Given the description of an element on the screen output the (x, y) to click on. 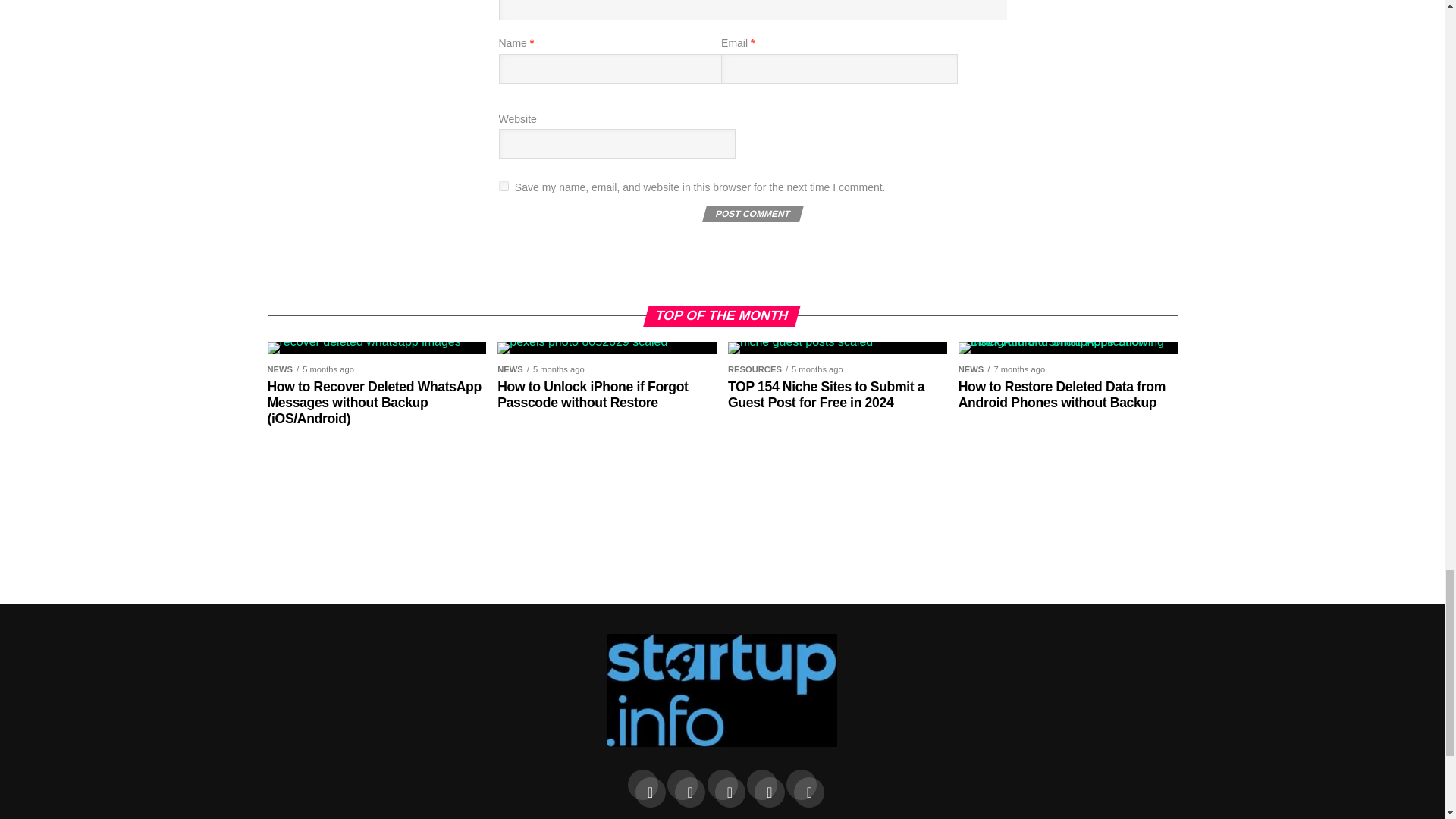
yes (503, 185)
Post Comment (750, 213)
